Given the description of an element on the screen output the (x, y) to click on. 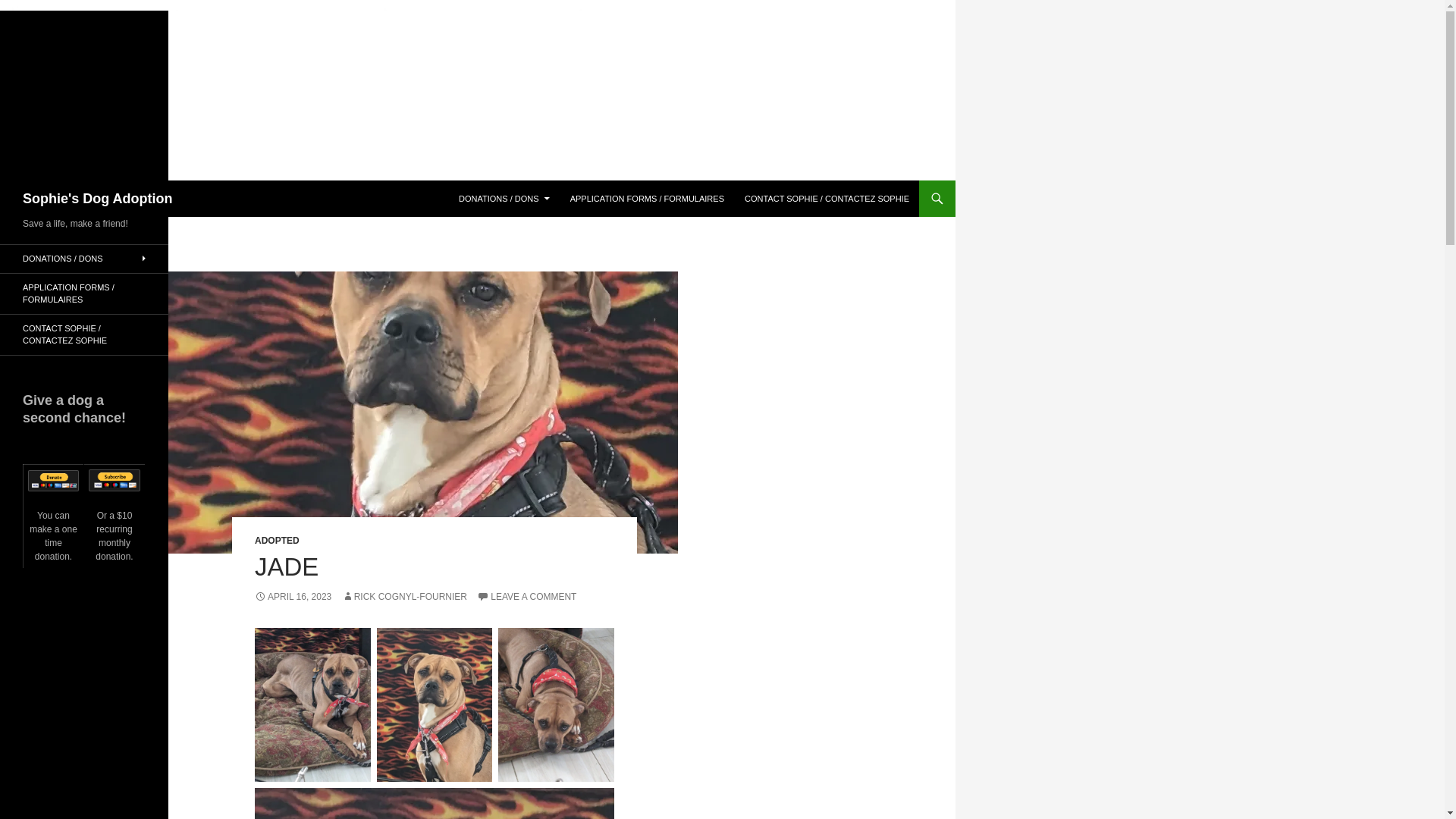
ADOPTED (276, 540)
Sophie's Dog Adoption (98, 198)
RICK COGNYL-FOURNIER (404, 596)
APRIL 16, 2023 (292, 596)
LEAVE A COMMENT (526, 596)
